Given the description of an element on the screen output the (x, y) to click on. 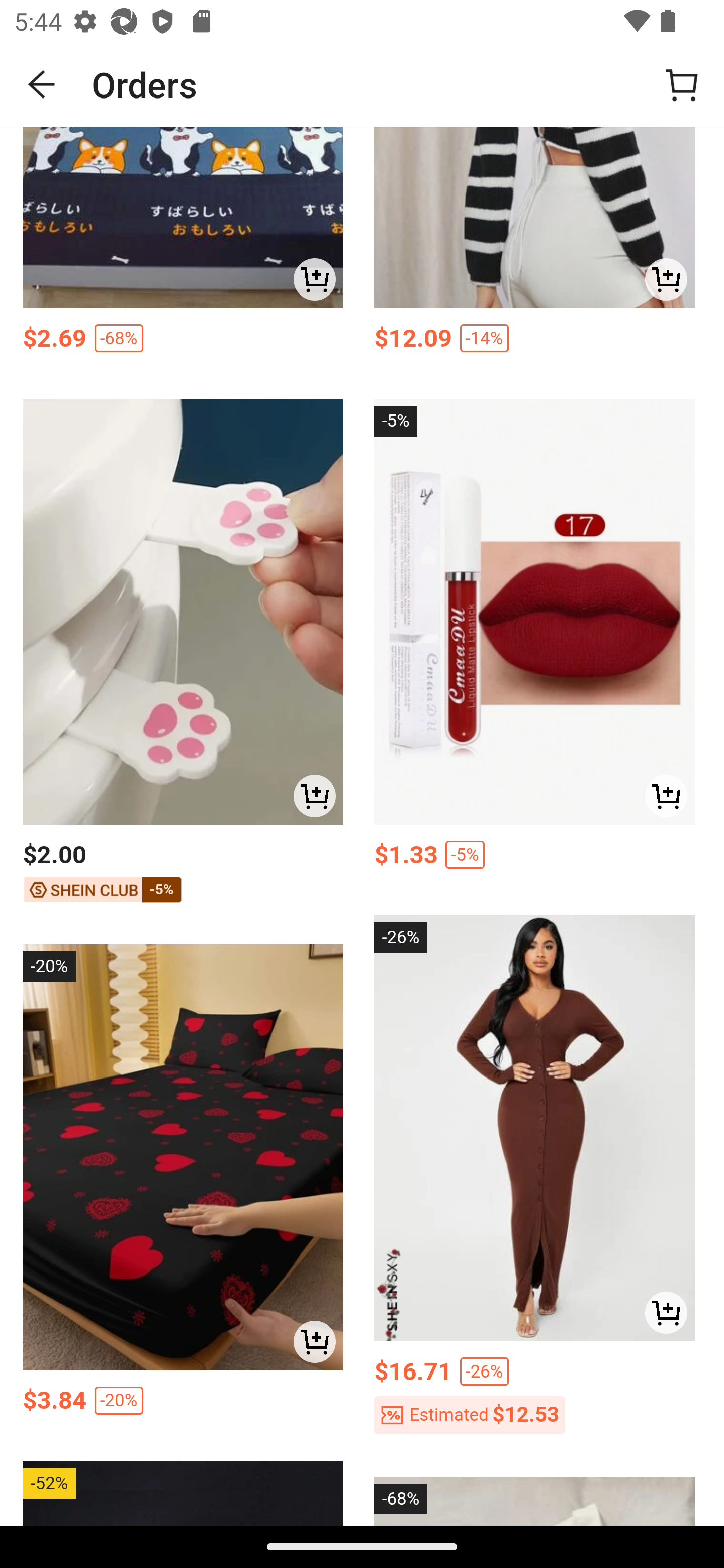
BACK (42, 84)
Cart (681, 84)
$2.69 -68% (182, 342)
$12.09 -14% (534, 342)
$2.00 sui_icon_paidmember_Label@3x-91f33d47f8 -5% (182, 874)
$1.33 -5% (534, 860)
$16.71 -26%  Estimated $12.53 (534, 1399)
$3.84 -20% (182, 1406)
